Given the description of an element on the screen output the (x, y) to click on. 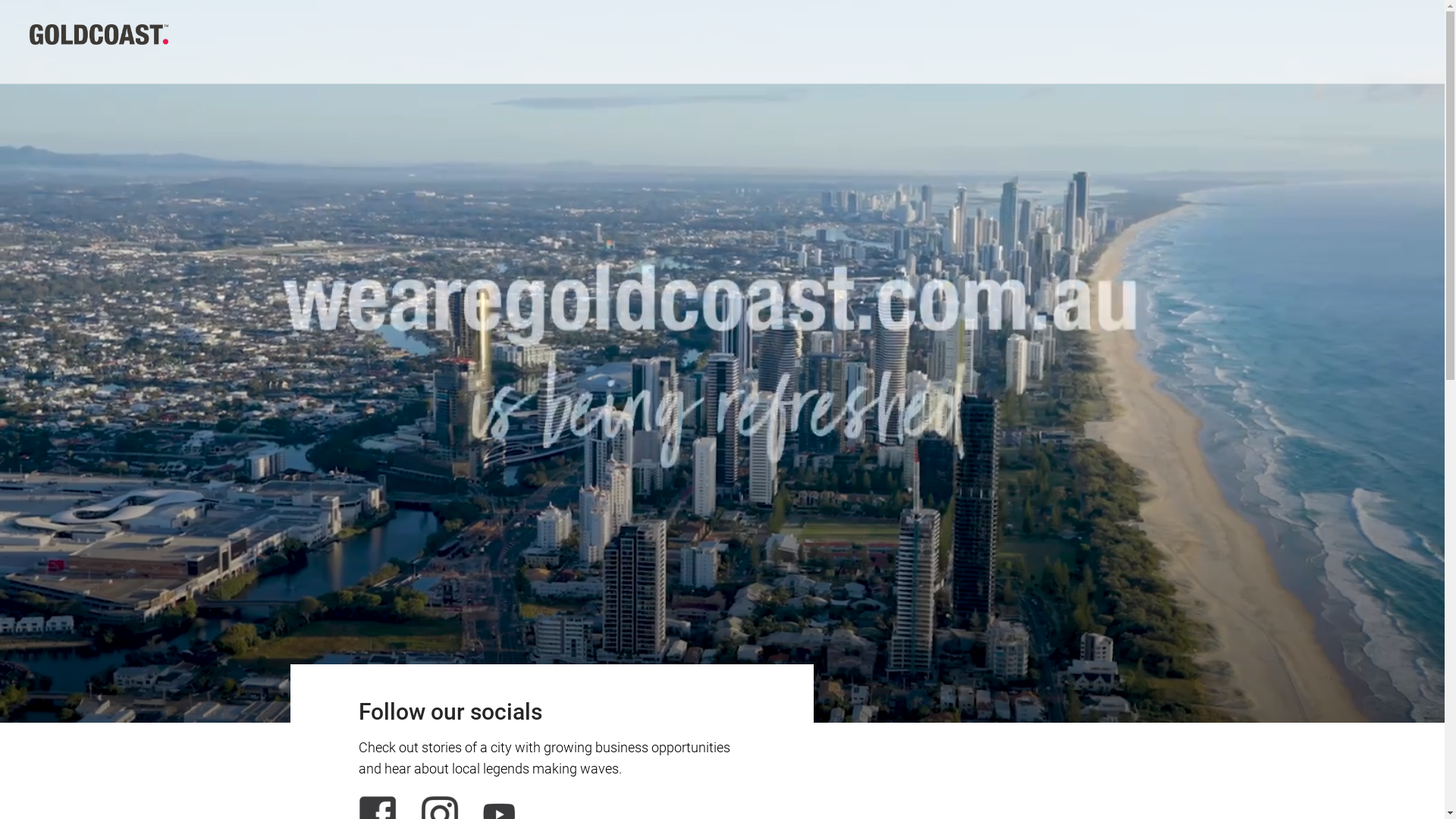
Wearegc Element type: hover (98, 32)
